Given the description of an element on the screen output the (x, y) to click on. 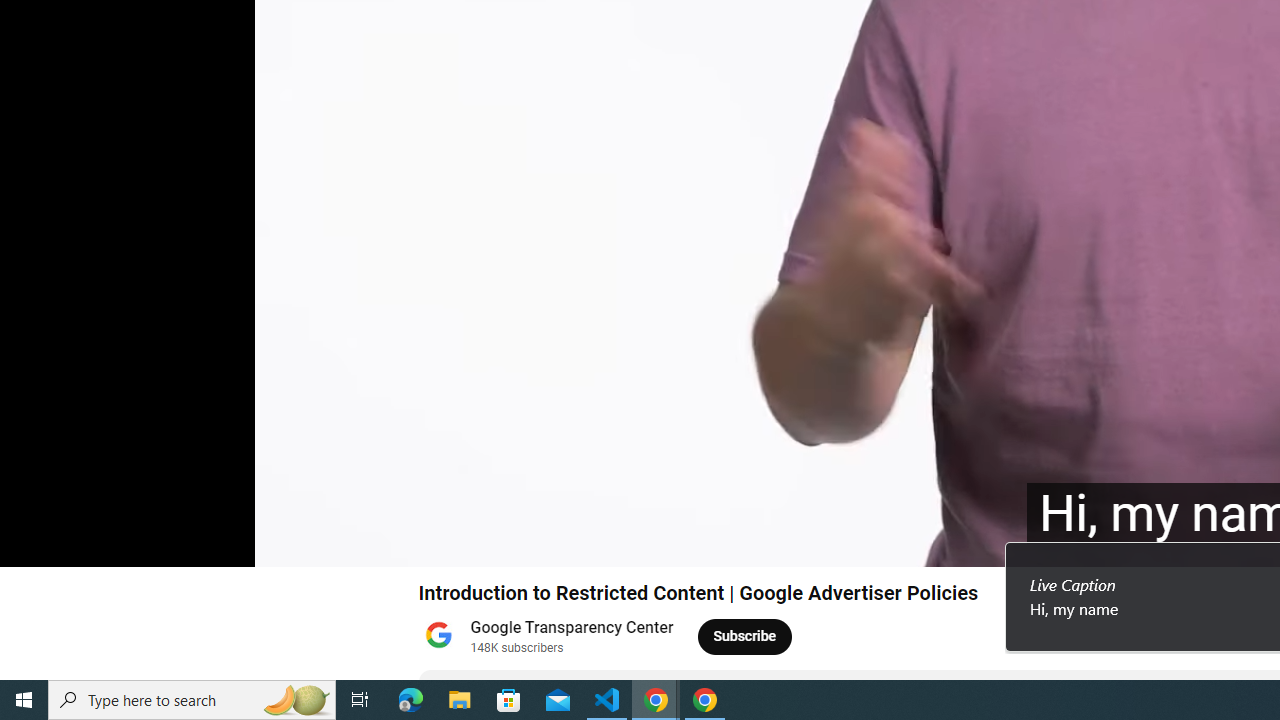
Subscribe to Google Transparency Center. (745, 636)
Google Transparency Center (572, 627)
Mute (m) (129, 543)
Play (k) (34, 543)
Introduction (278, 543)
Next (SHIFT+n) (81, 543)
